Given the description of an element on the screen output the (x, y) to click on. 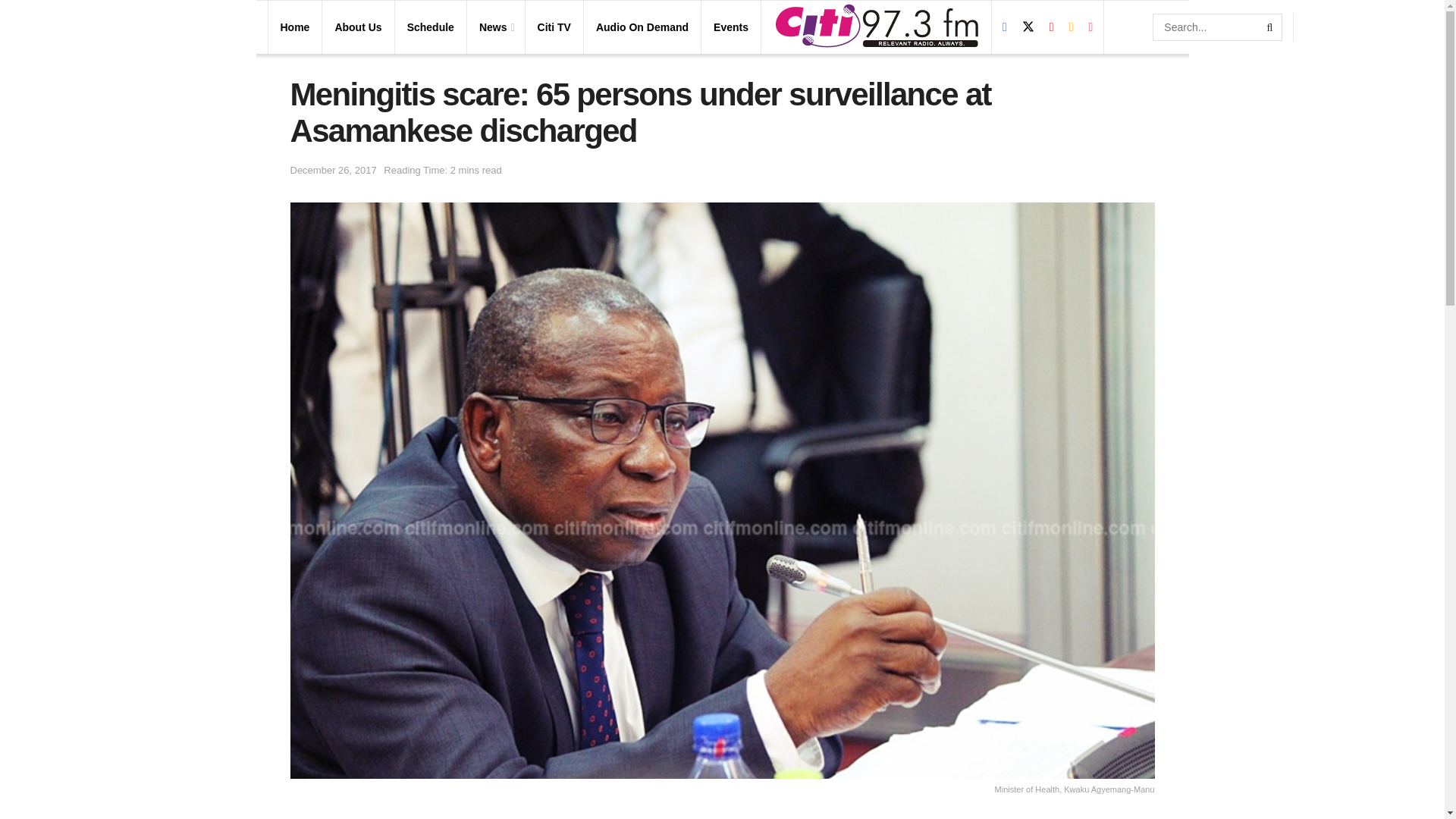
Audio On Demand (641, 26)
December 26, 2017 (332, 170)
News (495, 26)
Events (730, 26)
About Us (357, 26)
Citi TV (553, 26)
Schedule (430, 26)
Home (295, 26)
